Given the description of an element on the screen output the (x, y) to click on. 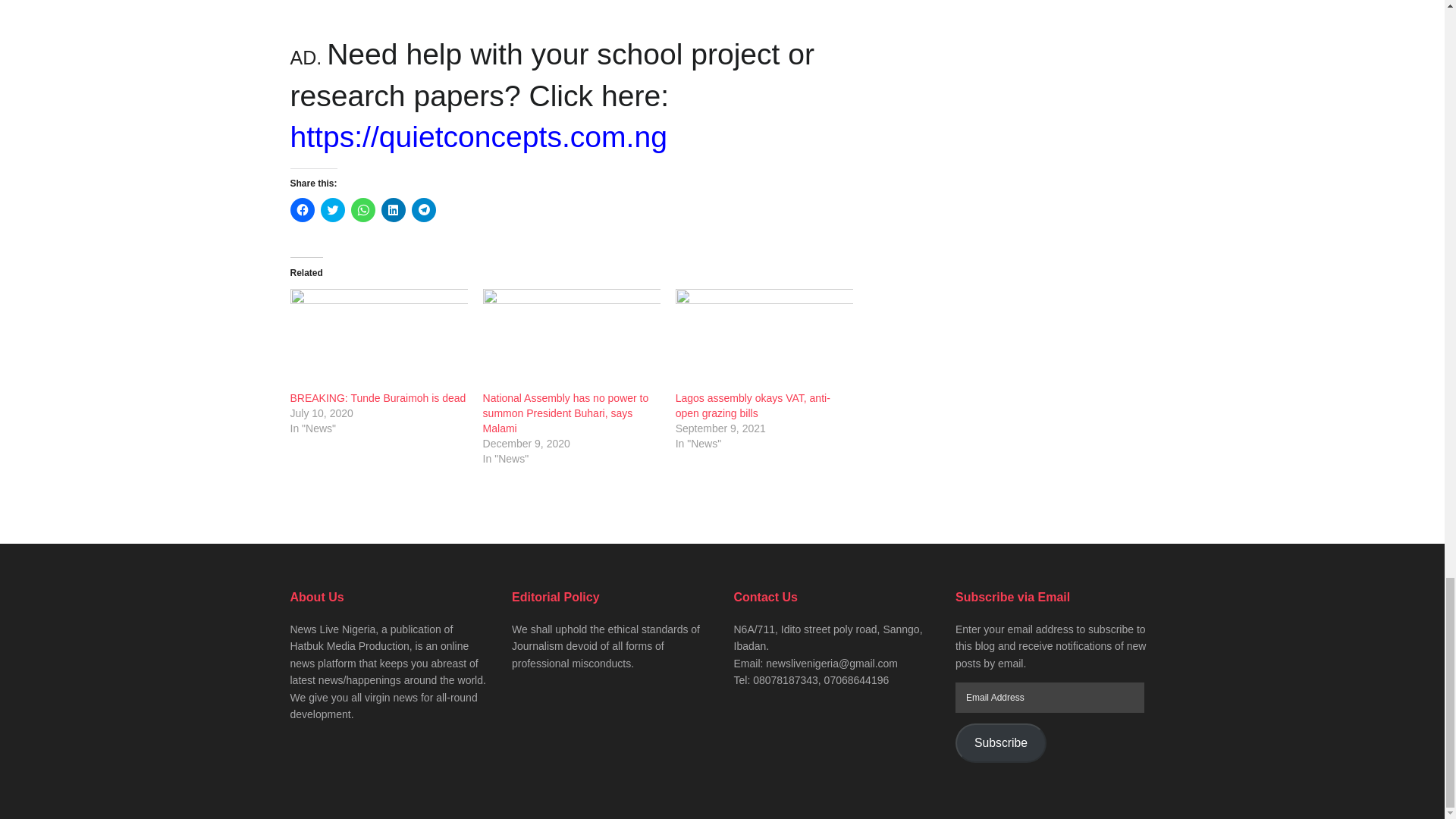
Click to share on LinkedIn (392, 209)
Lagos assembly okays VAT, anti-open grazing bills (752, 405)
Click to share on WhatsApp (362, 209)
Click to share on Twitter (331, 209)
Lagos assembly okays VAT, anti-open grazing bills (764, 339)
Click to share on Telegram (422, 209)
BREAKING: Tunde Buraimoh is dead (378, 339)
Click to share on Facebook (301, 209)
BREAKING: Tunde Buraimoh is dead (377, 398)
